Given the description of an element on the screen output the (x, y) to click on. 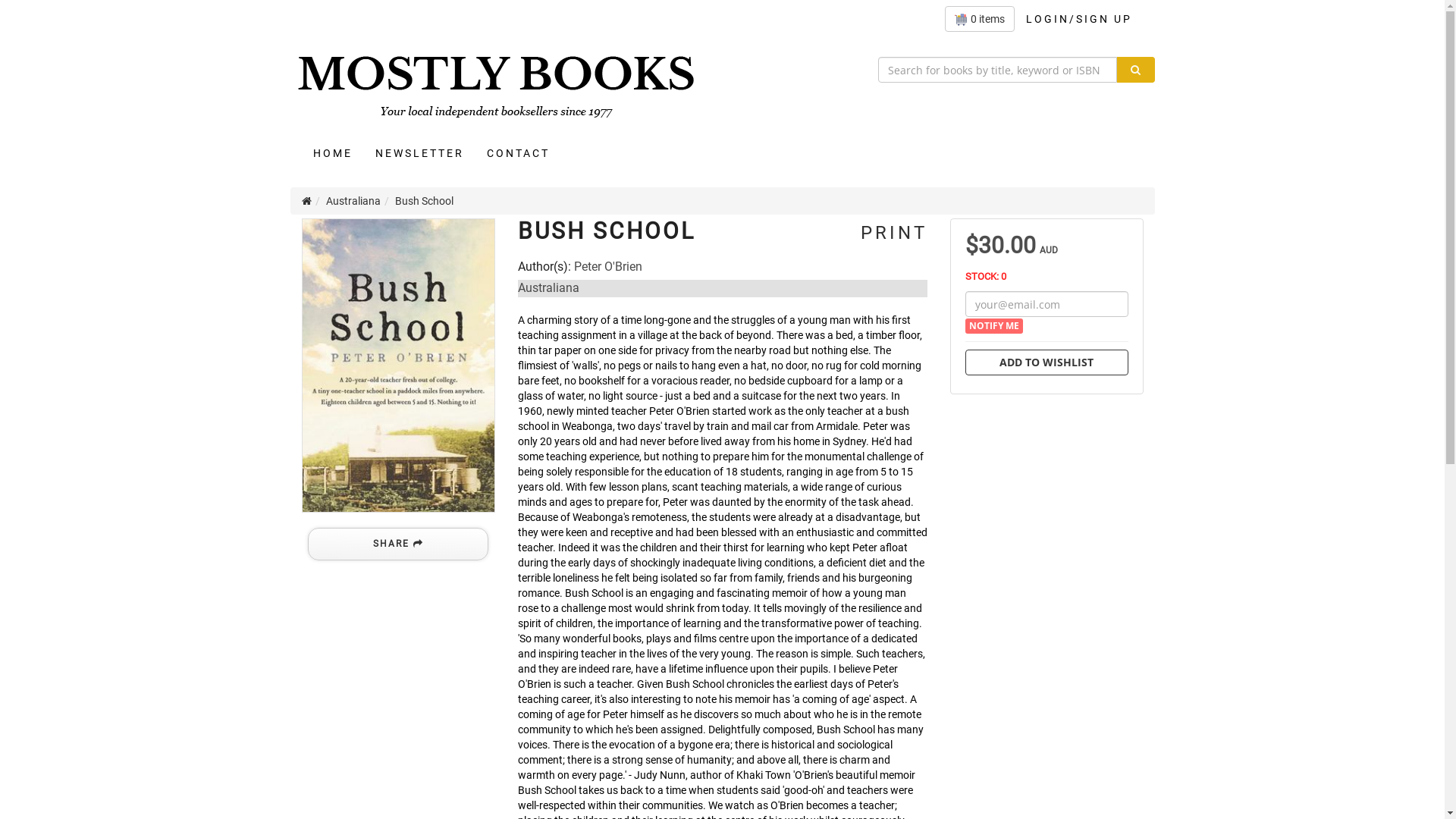
Australiana Element type: text (547, 287)
Bush School Element type: hover (398, 365)
Peter O'Brien Element type: text (607, 266)
SHARE Element type: text (397, 543)
ADD TO WISHLIST Element type: text (1045, 362)
 PRINT Element type: text (889, 232)
0 items Element type: text (979, 18)
0 items Element type: text (979, 18)
CONTACT Element type: text (517, 153)
Australiana Element type: text (353, 200)
NEWSLETTER Element type: text (419, 153)
HOME Element type: text (332, 153)
NOTIFY ME Element type: text (993, 325)
LOGIN/SIGN UP Element type: text (1078, 18)
